Given the description of an element on the screen output the (x, y) to click on. 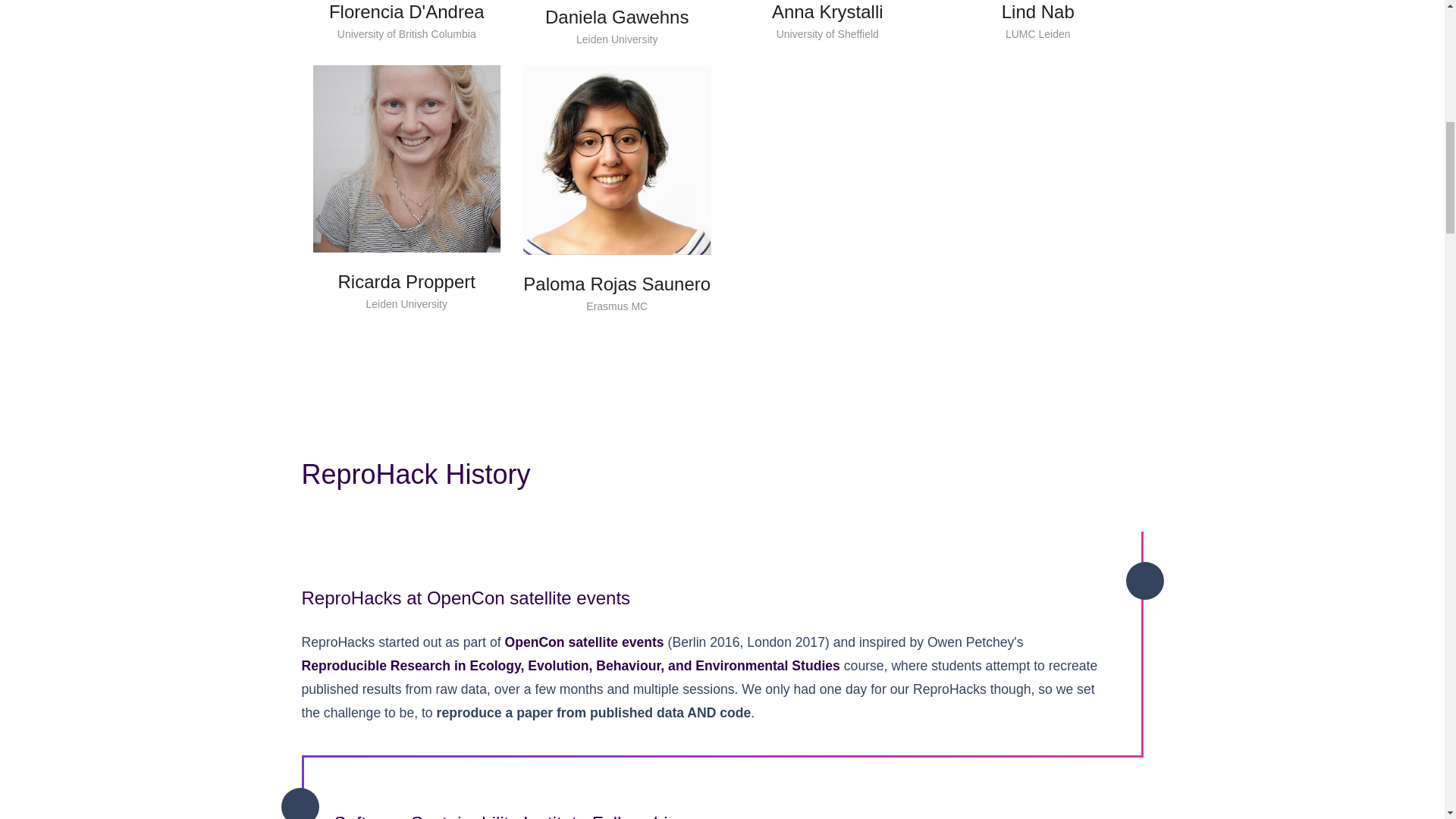
OpenCon satellite events (583, 642)
